Given the description of an element on the screen output the (x, y) to click on. 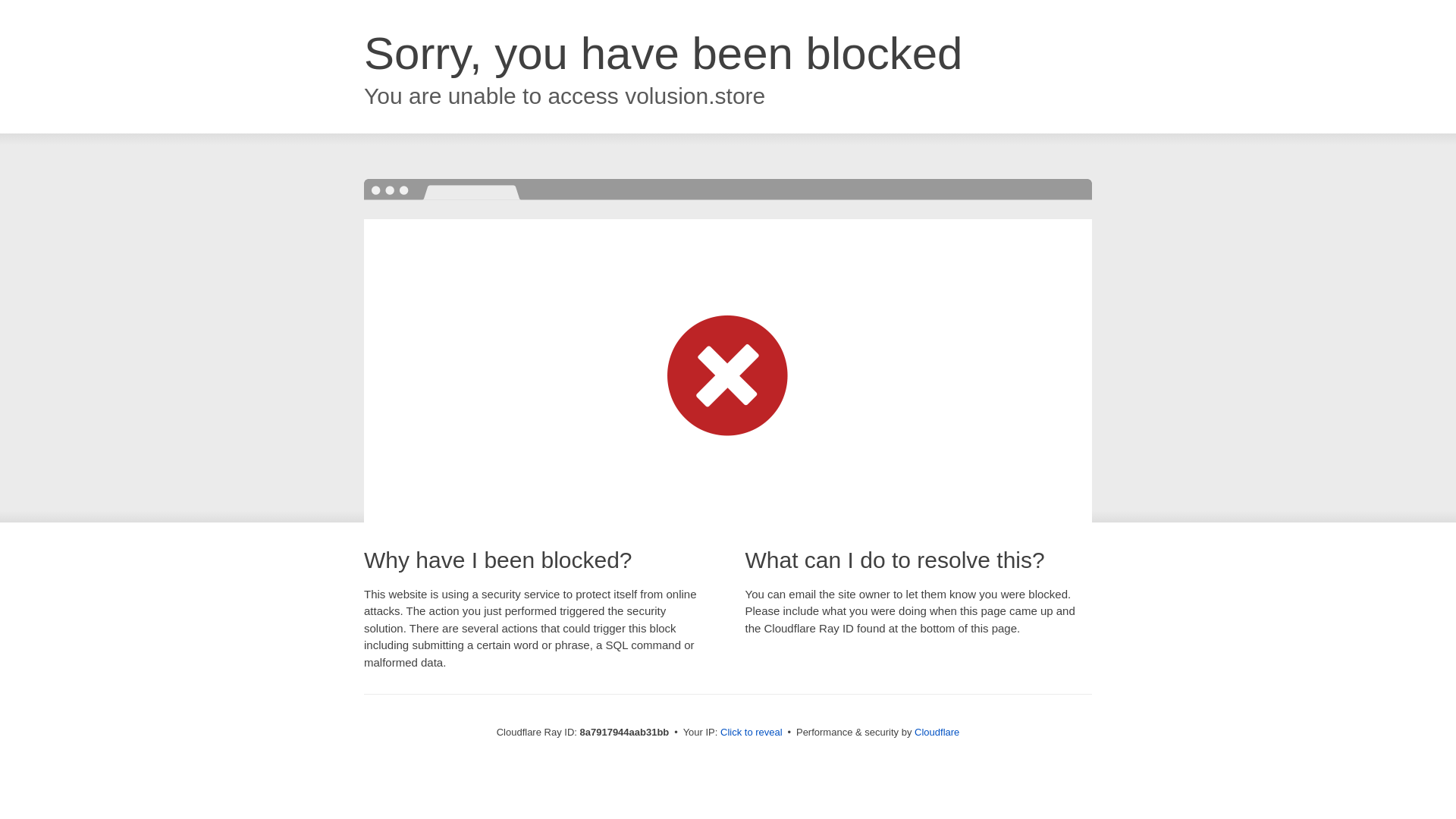
Cloudflare (936, 731)
Click to reveal (751, 732)
